Given the description of an element on the screen output the (x, y) to click on. 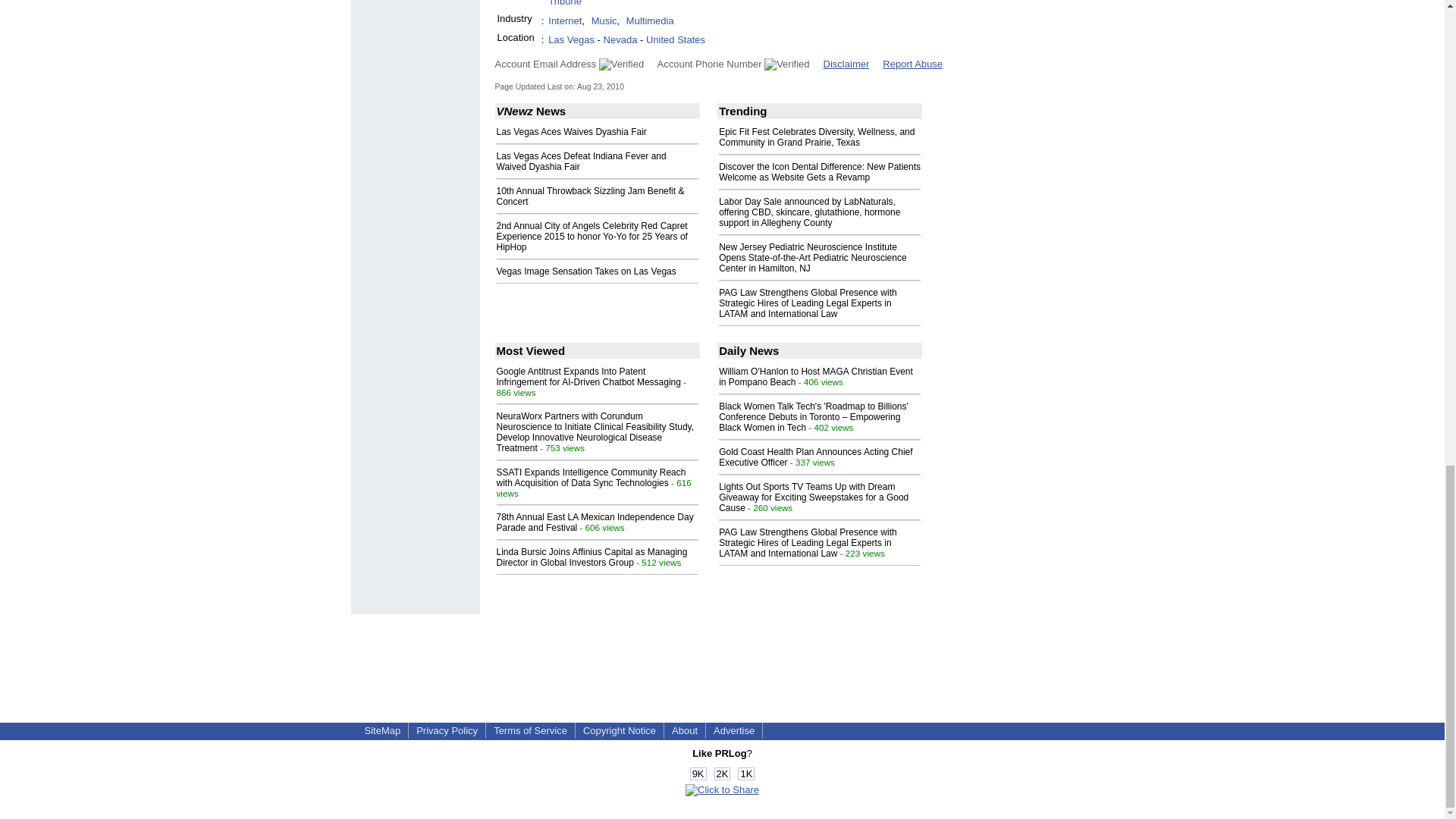
Verified (620, 64)
Share this page! (721, 789)
Verified (786, 64)
